Given the description of an element on the screen output the (x, y) to click on. 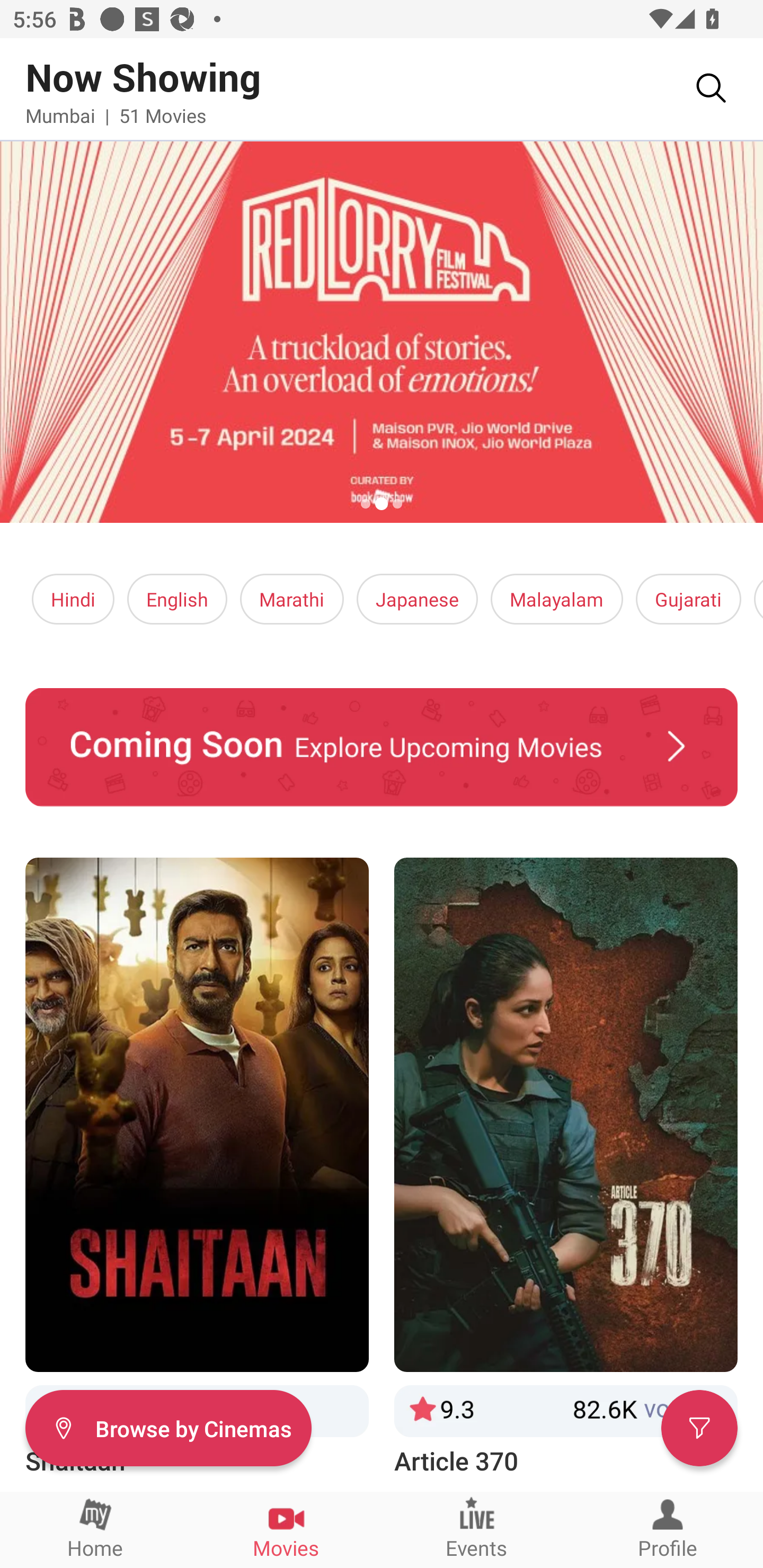
Mumbai  |  51 Movies (115, 114)
Hindi (73, 598)
English (177, 598)
Marathi (292, 598)
Japanese (416, 598)
Malayalam (556, 598)
Gujarati (688, 598)
Shaitaan (196, 1167)
Article 370 (565, 1167)
Filter Browse by Cinemas (168, 1427)
Filter (699, 1427)
Home (95, 1529)
Movies (285, 1529)
Events (476, 1529)
Profile (667, 1529)
